Given the description of an element on the screen output the (x, y) to click on. 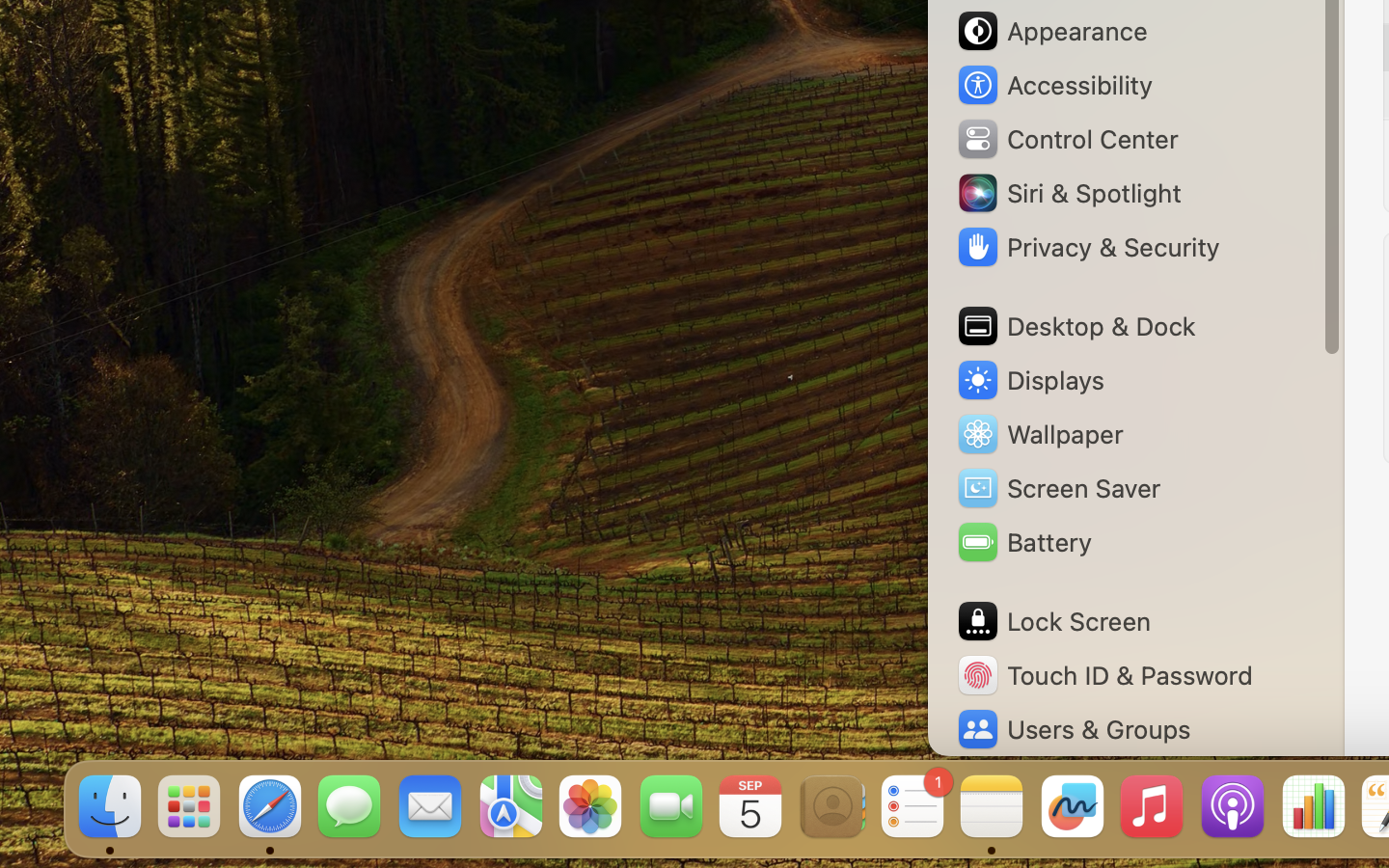
Displays Element type: AXStaticText (1029, 379)
Appearance Element type: AXStaticText (1050, 30)
Lock Screen Element type: AXStaticText (1052, 620)
